Given the description of an element on the screen output the (x, y) to click on. 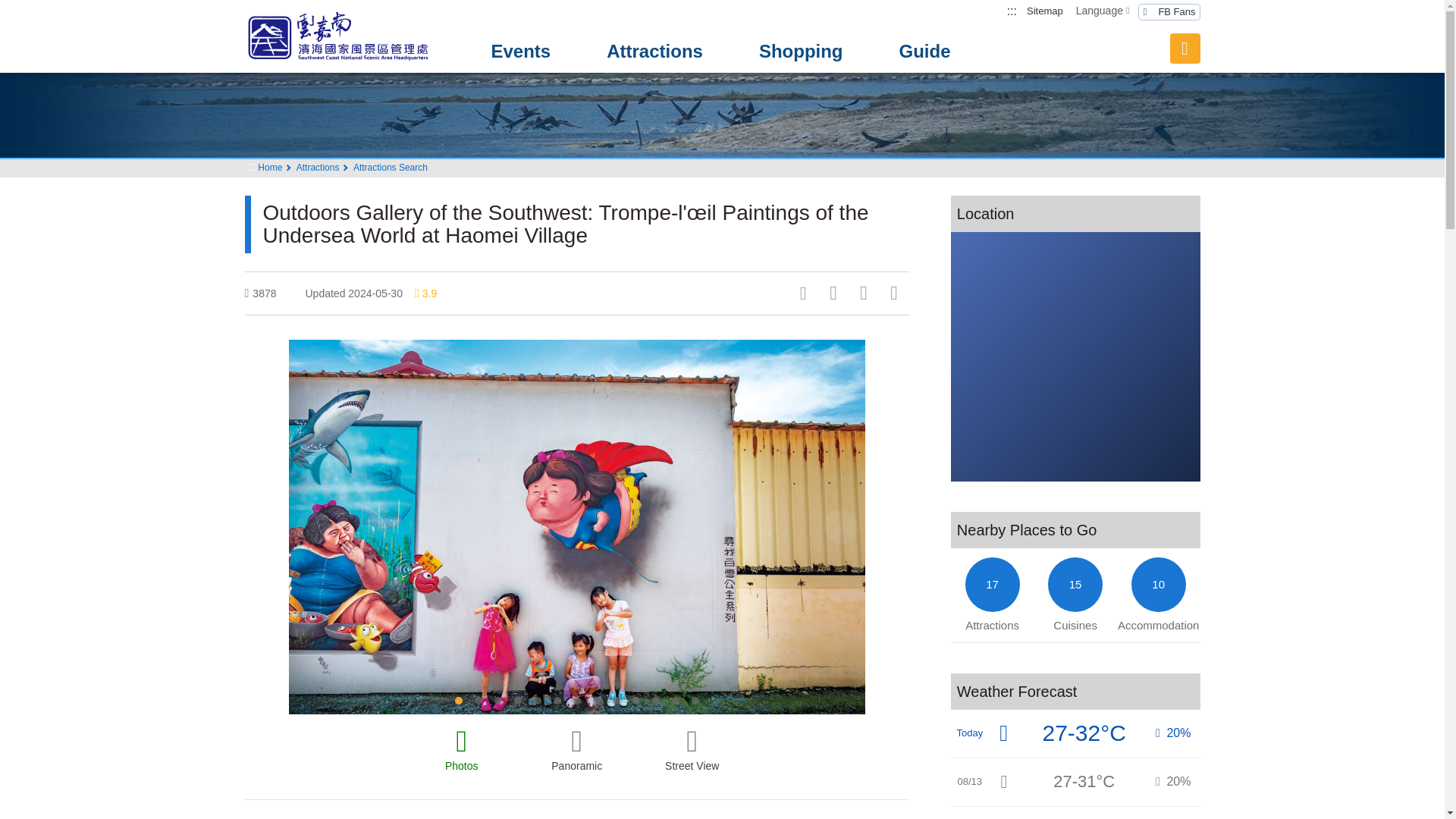
Attractions (654, 51)
Sitemap (1045, 11)
Attractions (654, 51)
FB Fans (1168, 12)
Sitemap (1045, 11)
Guide (925, 51)
Language (1102, 10)
Shopping (801, 51)
Southwest Coast National Scenic Area (350, 36)
